Given the description of an element on the screen output the (x, y) to click on. 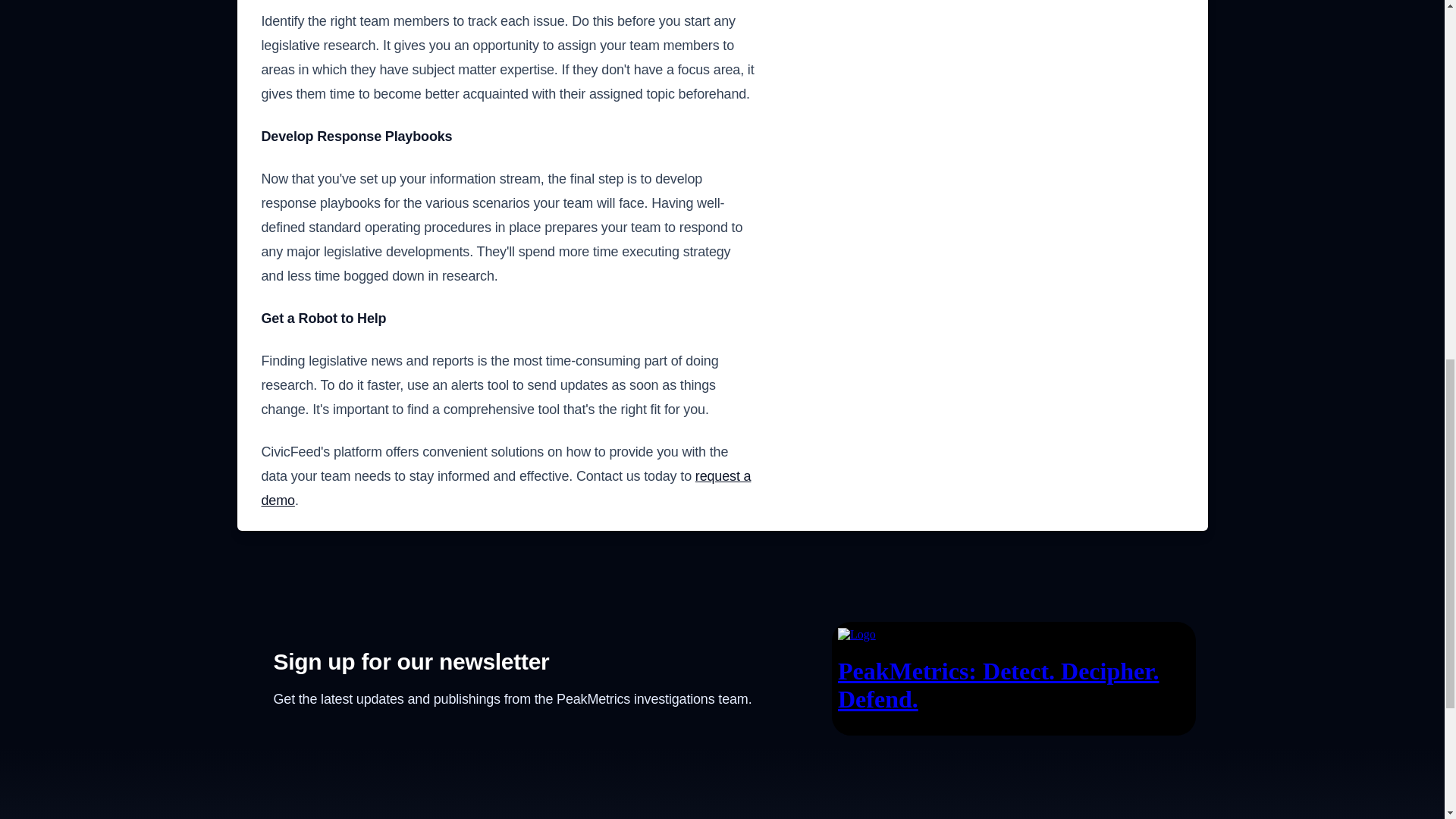
request a demo (505, 487)
